Given the description of an element on the screen output the (x, y) to click on. 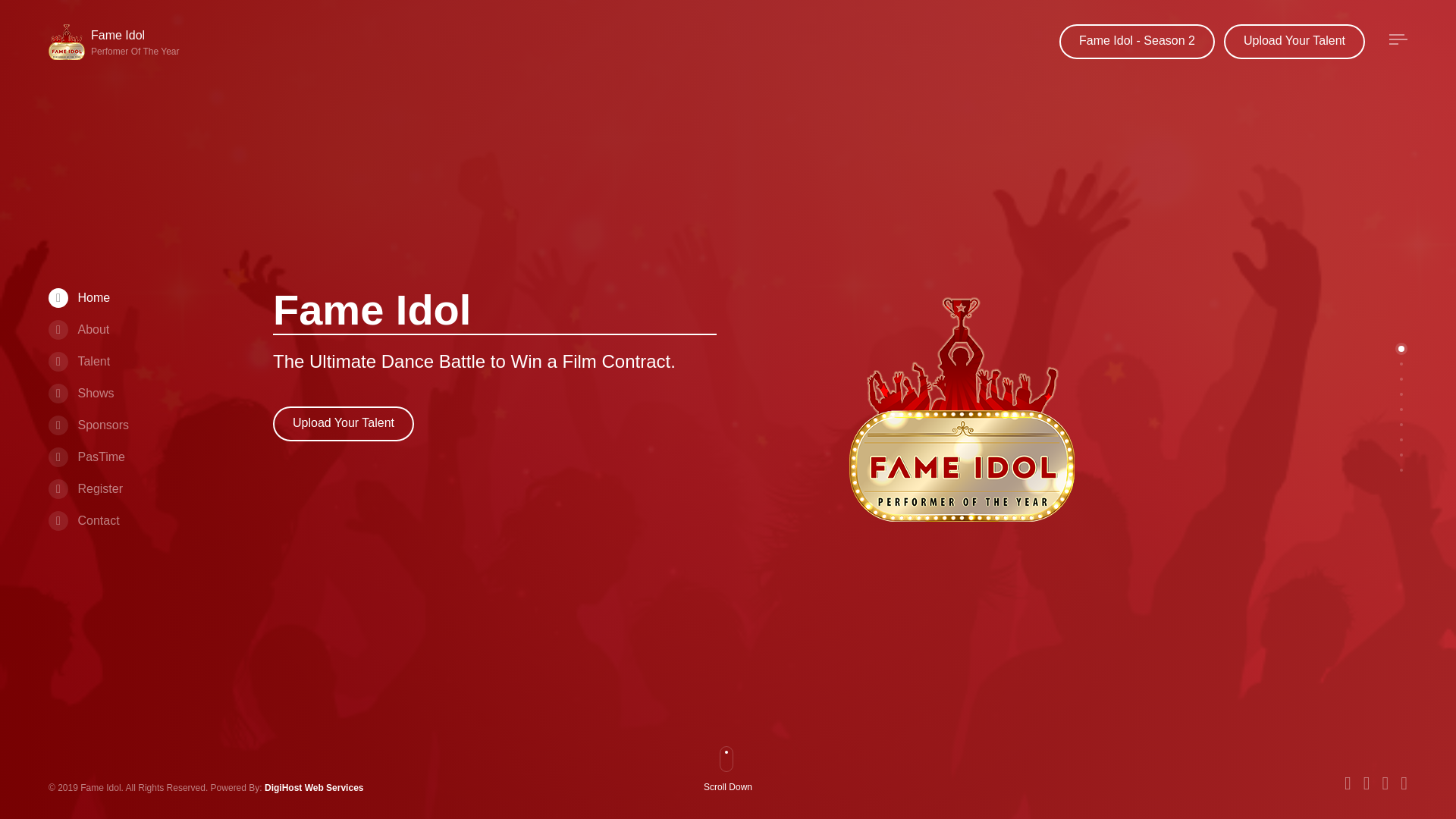
Register (85, 488)
Contact (83, 520)
Fame Idol - Season 2 (1136, 41)
Upload Your Talent (343, 423)
Upload Your Talent (1294, 41)
Home (79, 297)
Sponsors (88, 424)
Talent (117, 42)
Scroll Down (79, 360)
